Given the description of an element on the screen output the (x, y) to click on. 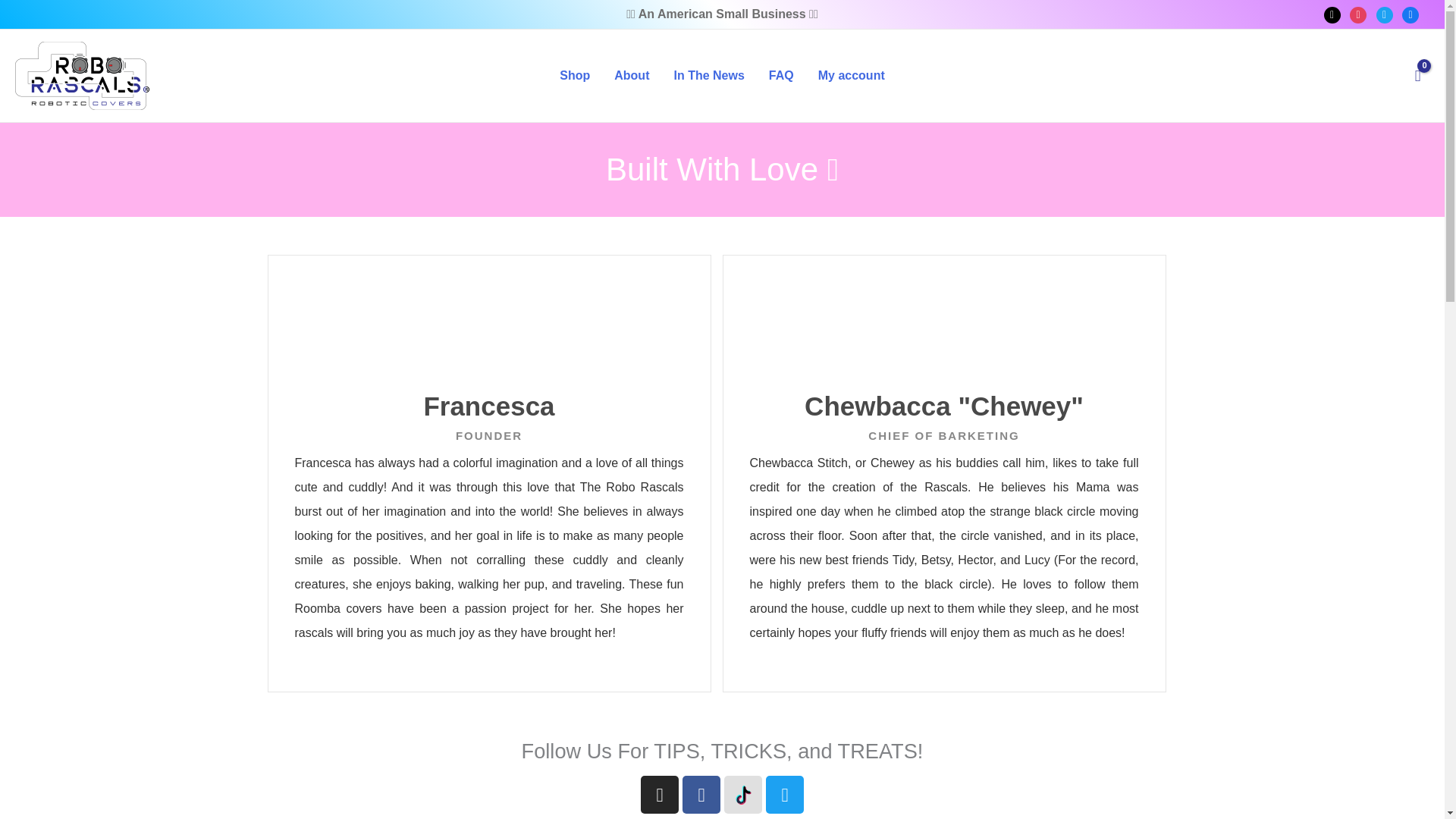
Shop (574, 75)
In The News (708, 75)
About (631, 75)
My account (851, 75)
FAQ (781, 75)
